Given the description of an element on the screen output the (x, y) to click on. 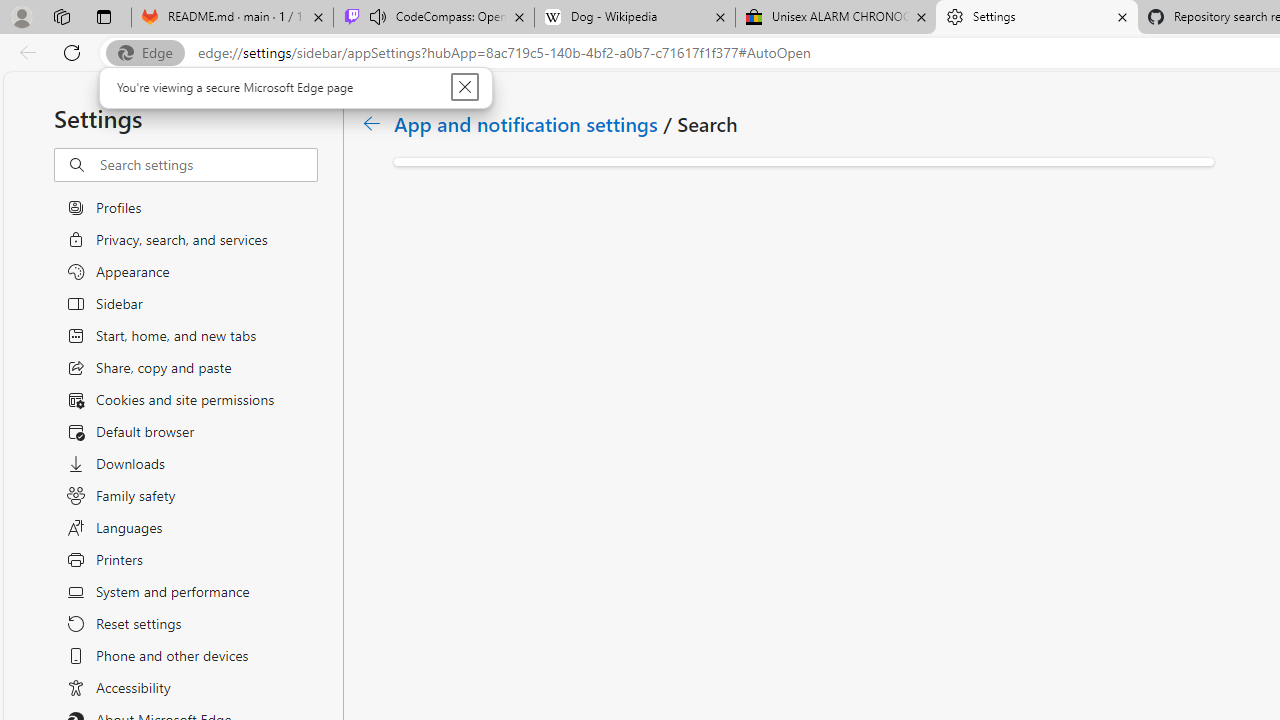
Search settings (207, 165)
Mute tab (377, 16)
Dog - Wikipedia (634, 17)
